Given the description of an element on the screen output the (x, y) to click on. 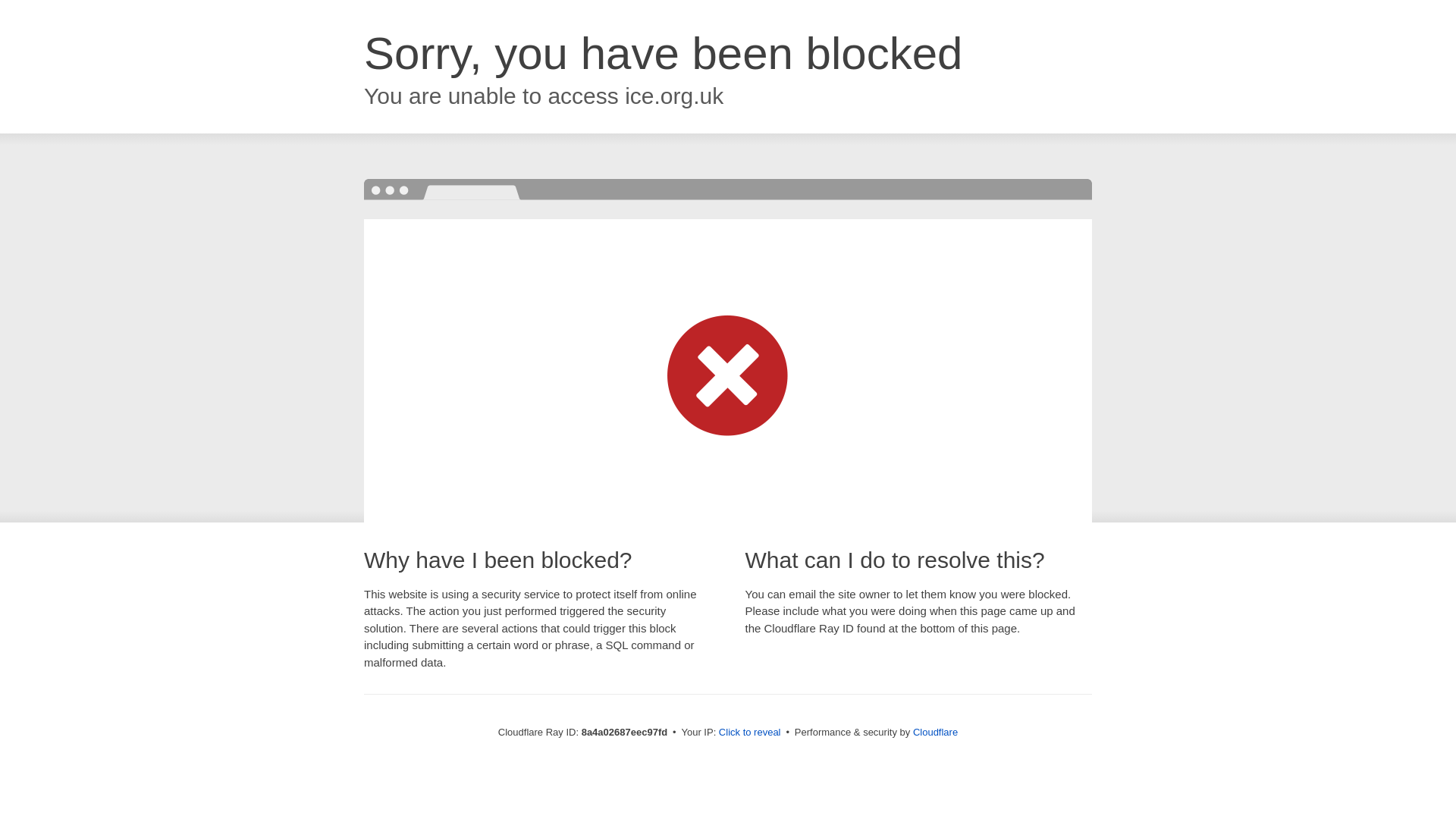
Cloudflare (935, 731)
Click to reveal (749, 732)
